Given the description of an element on the screen output the (x, y) to click on. 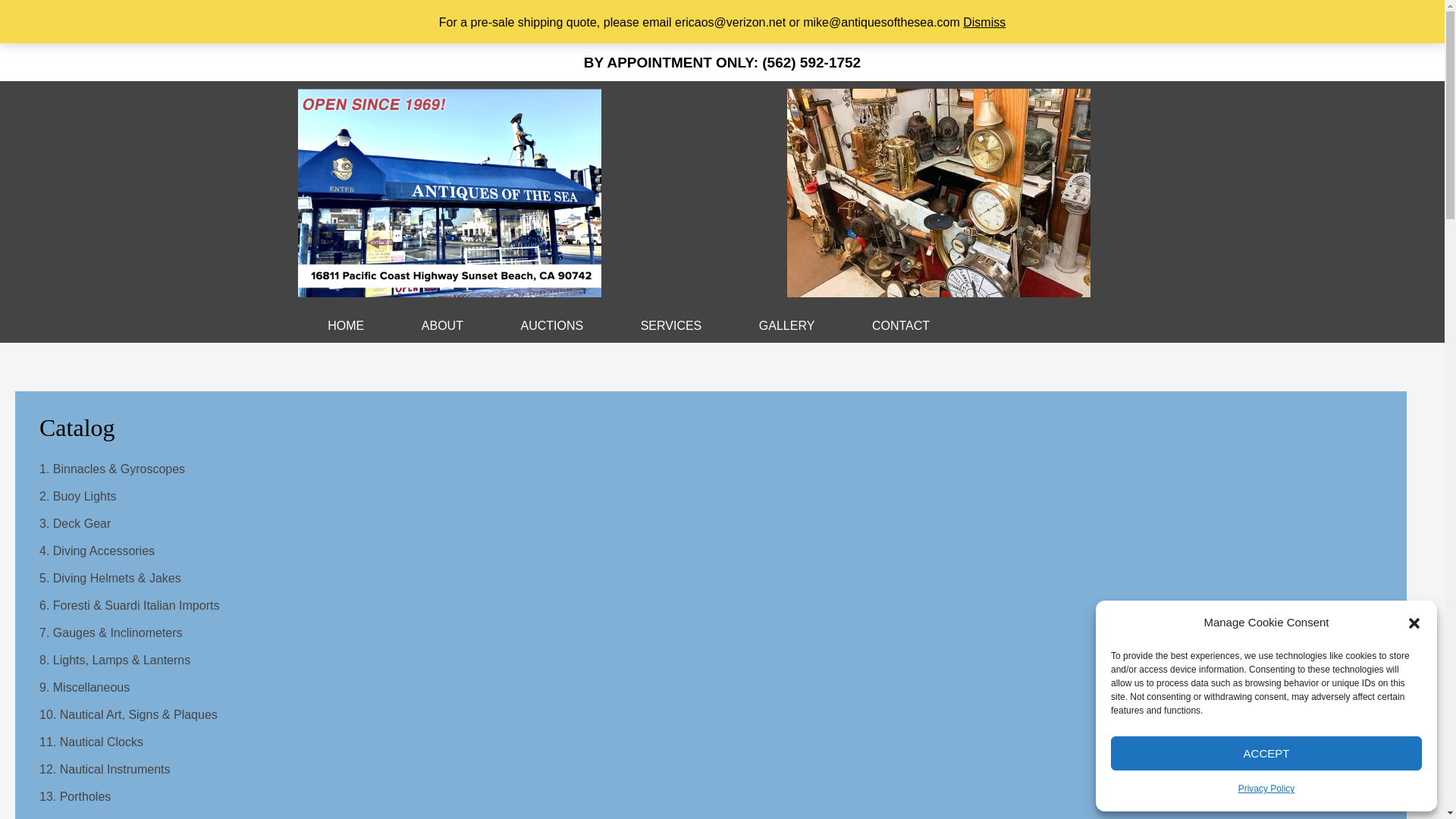
CONTACT (900, 326)
11. Nautical Clocks (90, 741)
14. Propellers (77, 818)
12. Nautical Instruments (104, 768)
2. Buoy Lights (77, 495)
SERVICES (670, 326)
GALLERY (786, 326)
AUCTIONS (551, 326)
13. Portholes (74, 796)
ACCEPT (1266, 753)
4. Diving Accessories (96, 550)
9. Miscellaneous (84, 686)
3. Deck Gear (74, 522)
